Given the description of an element on the screen output the (x, y) to click on. 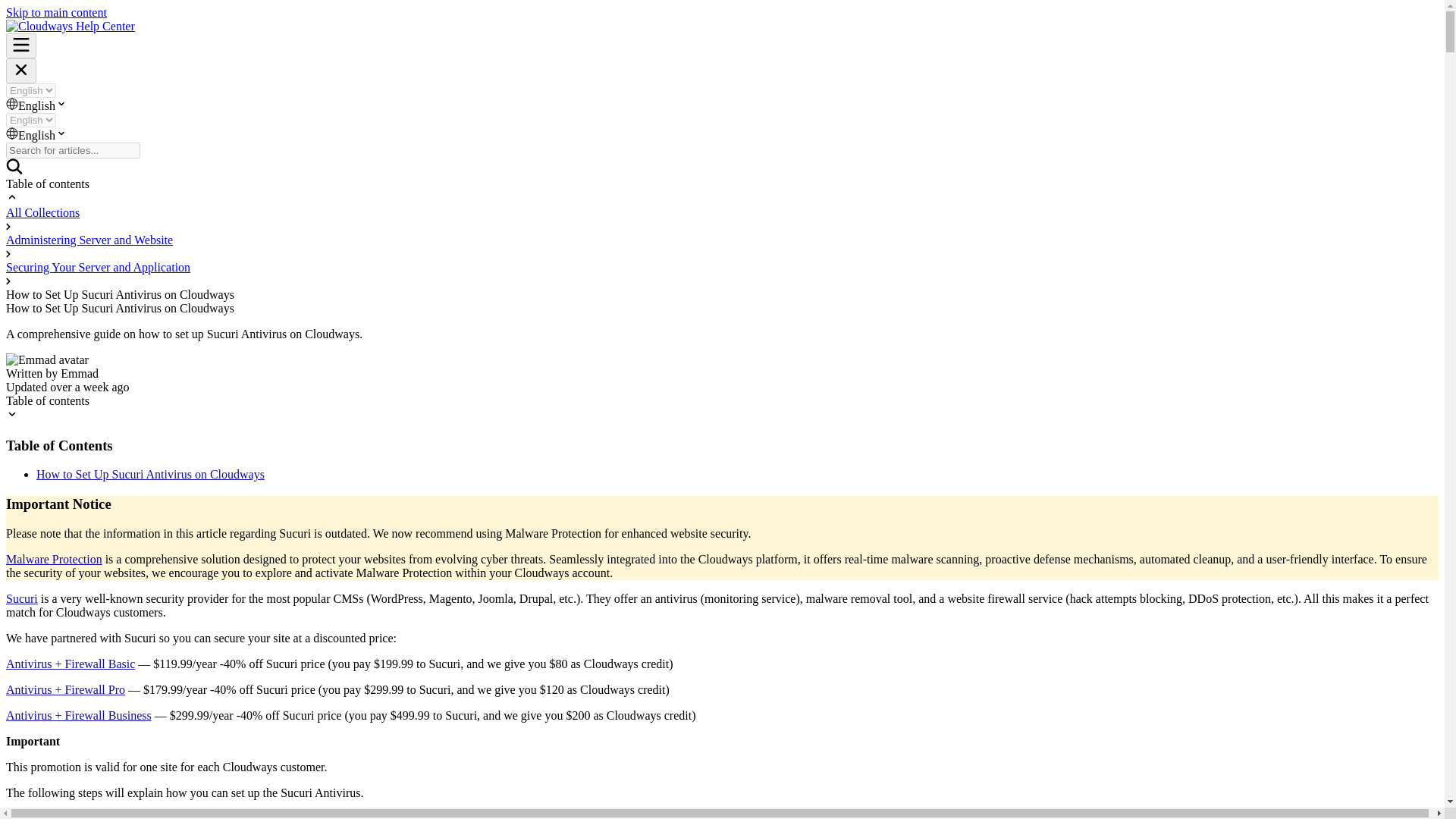
Securing Your Server and Application (97, 267)
Malware Protection (53, 558)
Skip to main content (55, 11)
How to Set Up Sucuri Antivirus on Cloudways (150, 473)
All Collections (42, 212)
Administering Server and Website (89, 239)
Sucuri (21, 598)
